Given the description of an element on the screen output the (x, y) to click on. 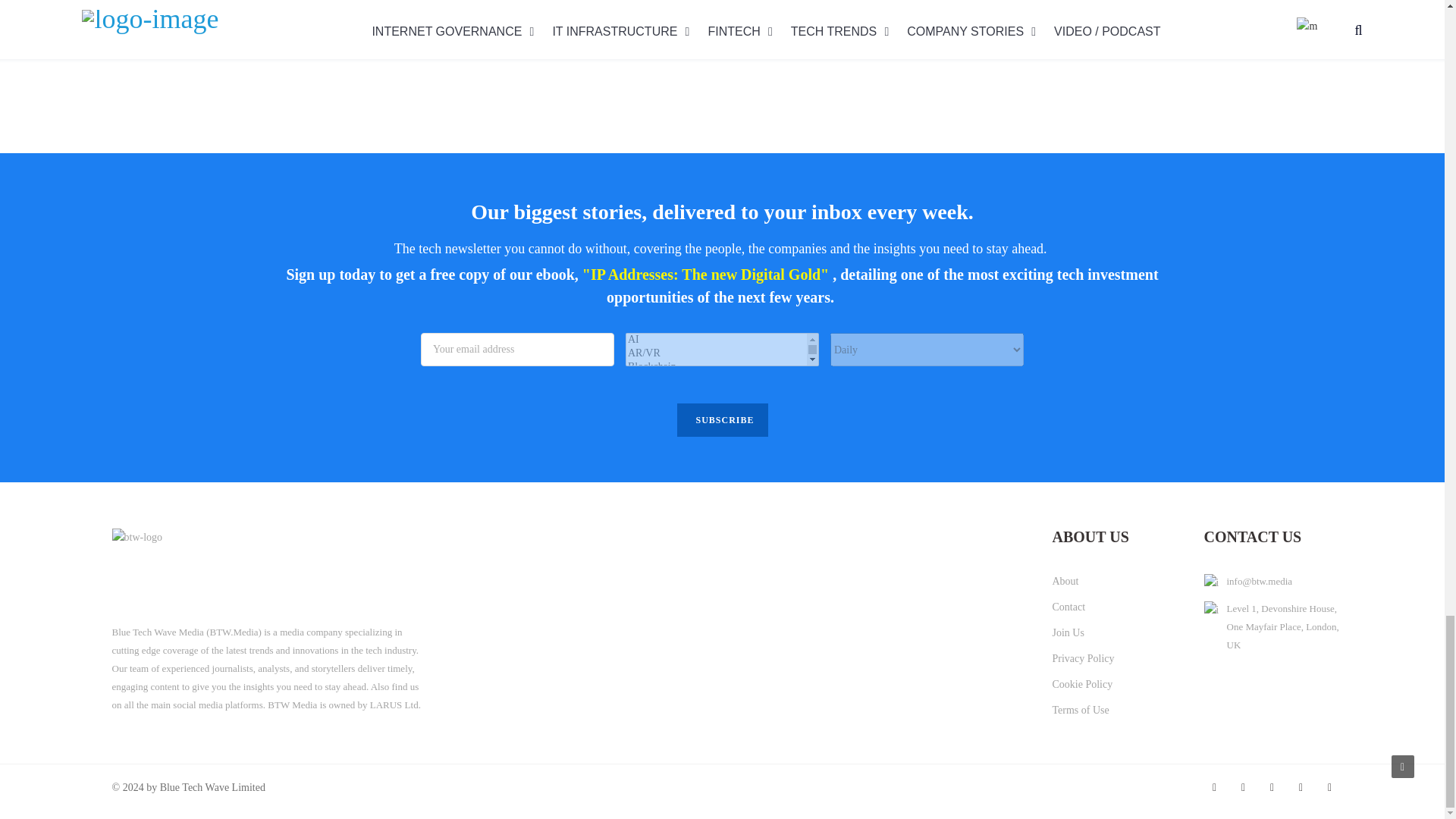
Subscribe (722, 419)
Subscribe (722, 419)
